Given the description of an element on the screen output the (x, y) to click on. 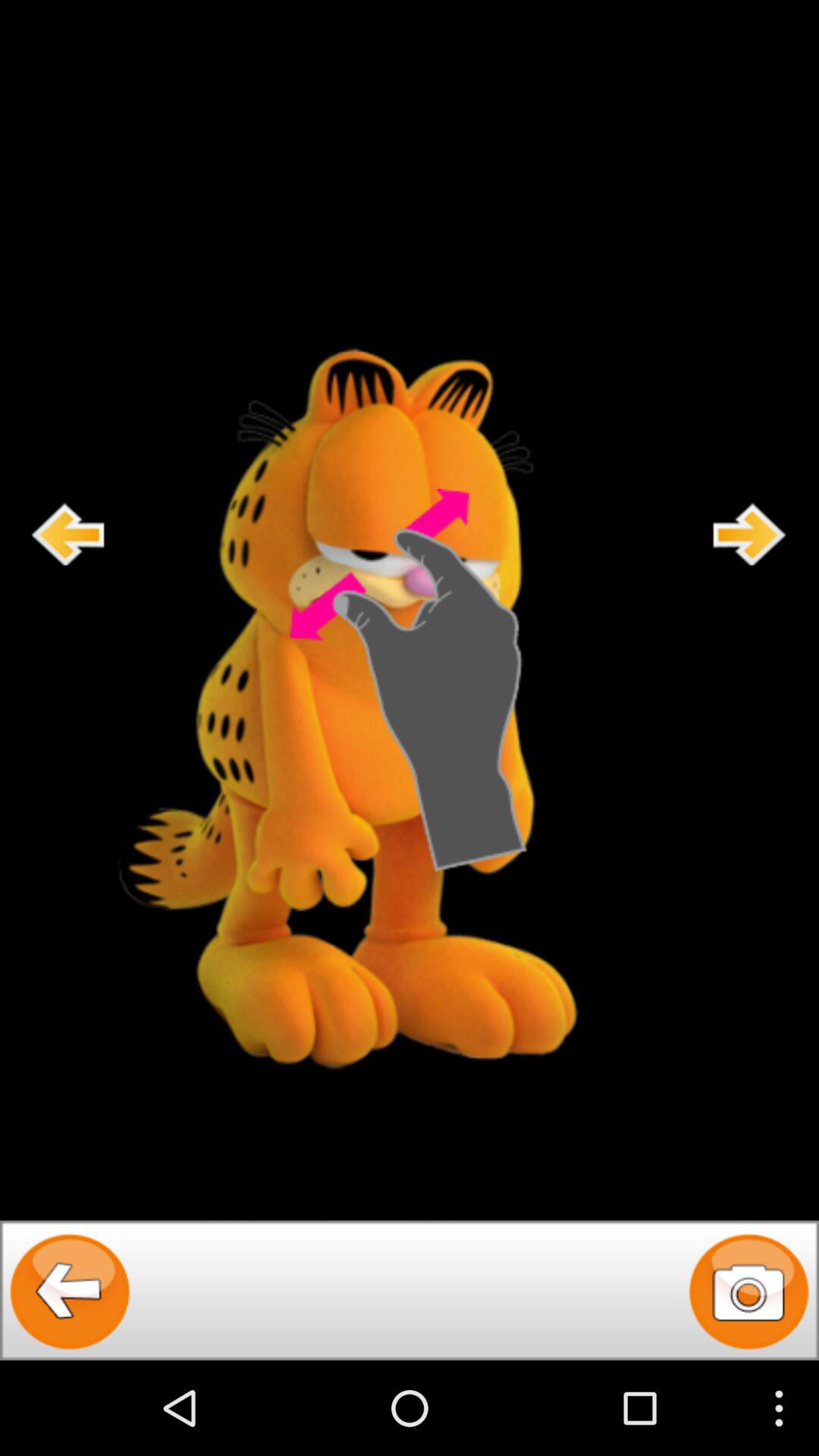
next image (750, 533)
